Given the description of an element on the screen output the (x, y) to click on. 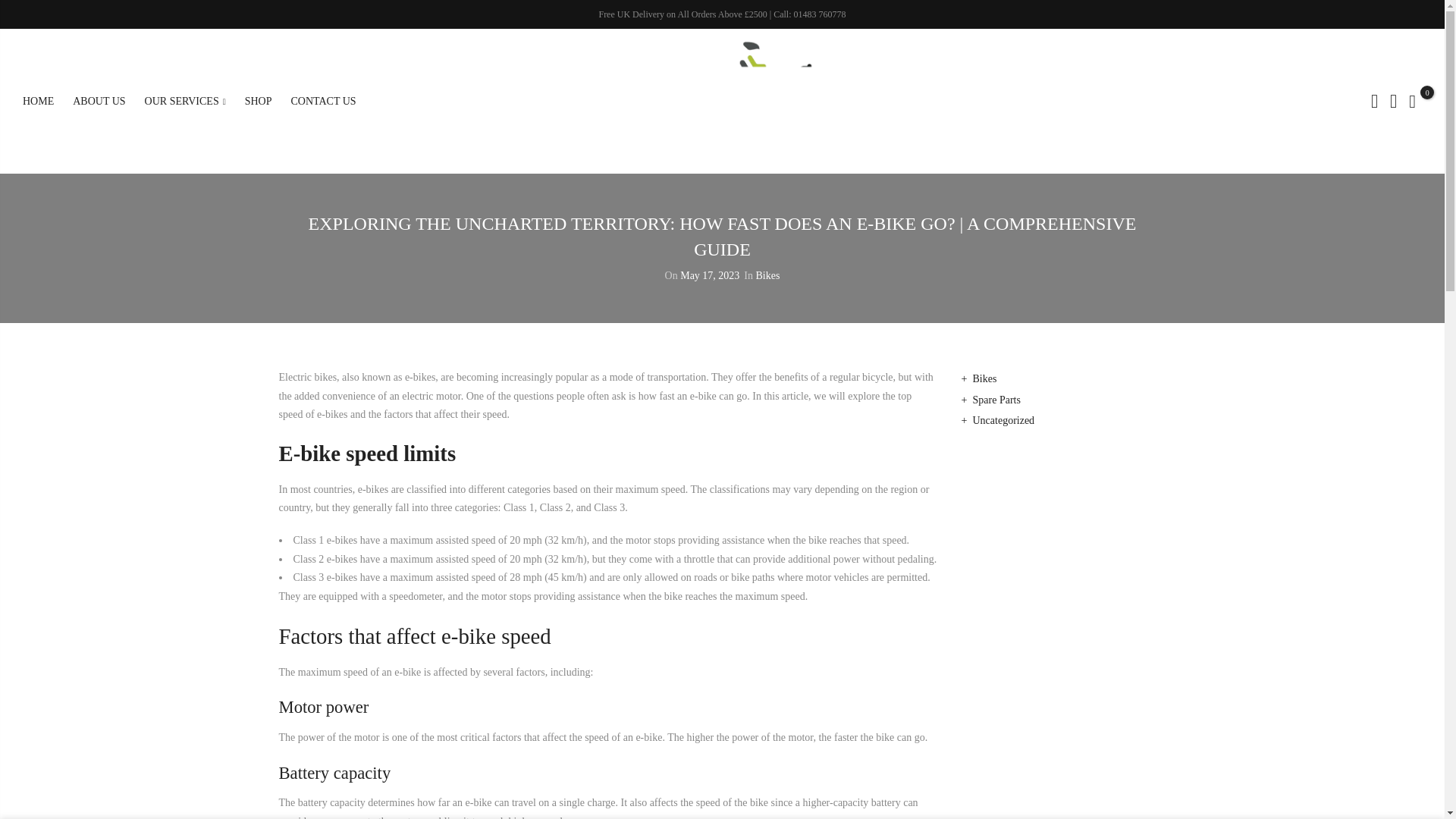
SHOP (258, 101)
Bikes (983, 378)
Bikes (767, 275)
ABOUT US (98, 101)
Uncategorized (1002, 419)
Spare Parts (996, 399)
HOME (38, 101)
CONTACT US (323, 101)
OUR SERVICES (184, 101)
